Given the description of an element on the screen output the (x, y) to click on. 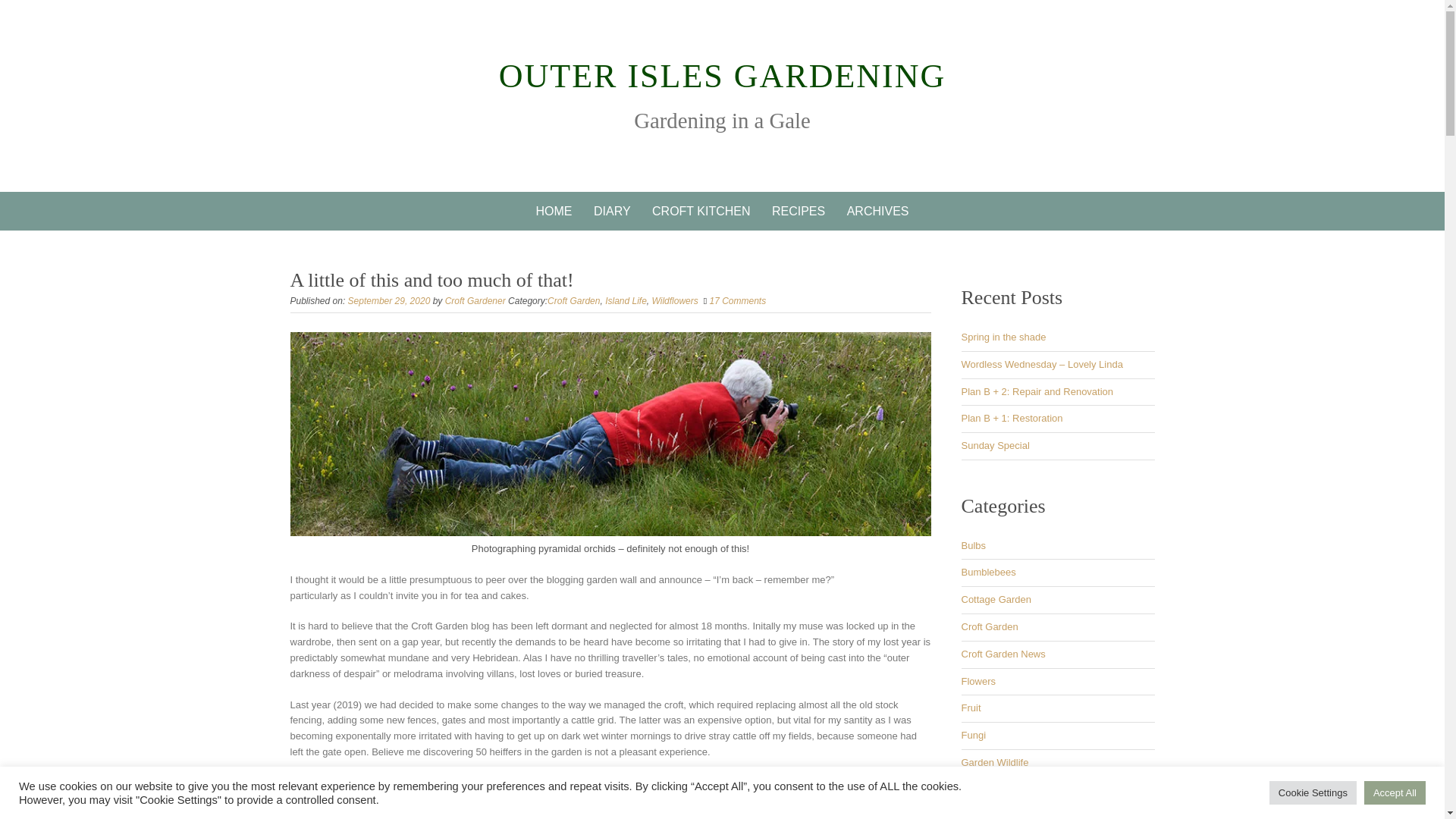
Outer Isles Gardening Gardening in a Gale (722, 76)
HOME (553, 210)
OUTER ISLES GARDENING (722, 76)
Wildflowers (675, 300)
RECIPES (798, 210)
ARCHIVES (878, 210)
Island Life (625, 300)
CROFT KITCHEN (700, 210)
17 Comments (737, 300)
DIARY (612, 210)
